Given the description of an element on the screen output the (x, y) to click on. 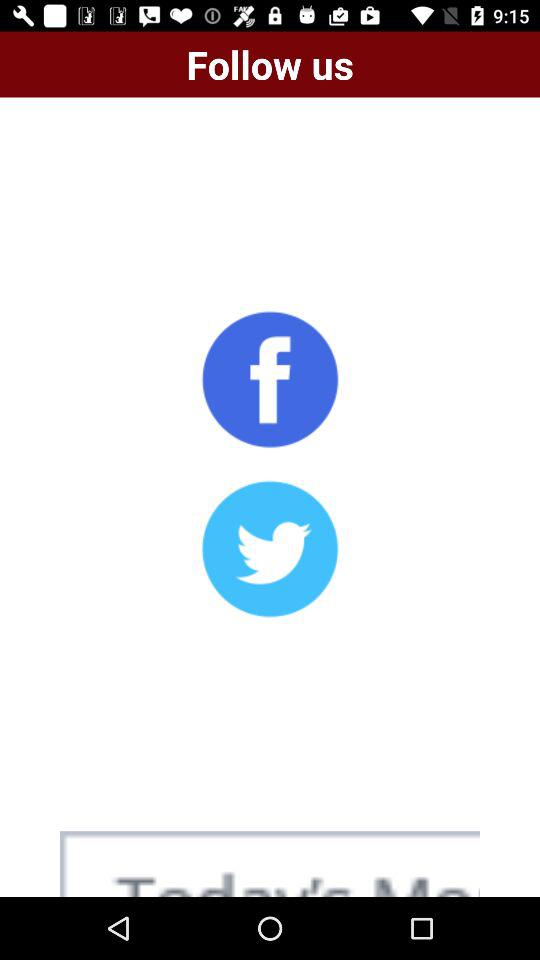
facebook link (270, 379)
